Given the description of an element on the screen output the (x, y) to click on. 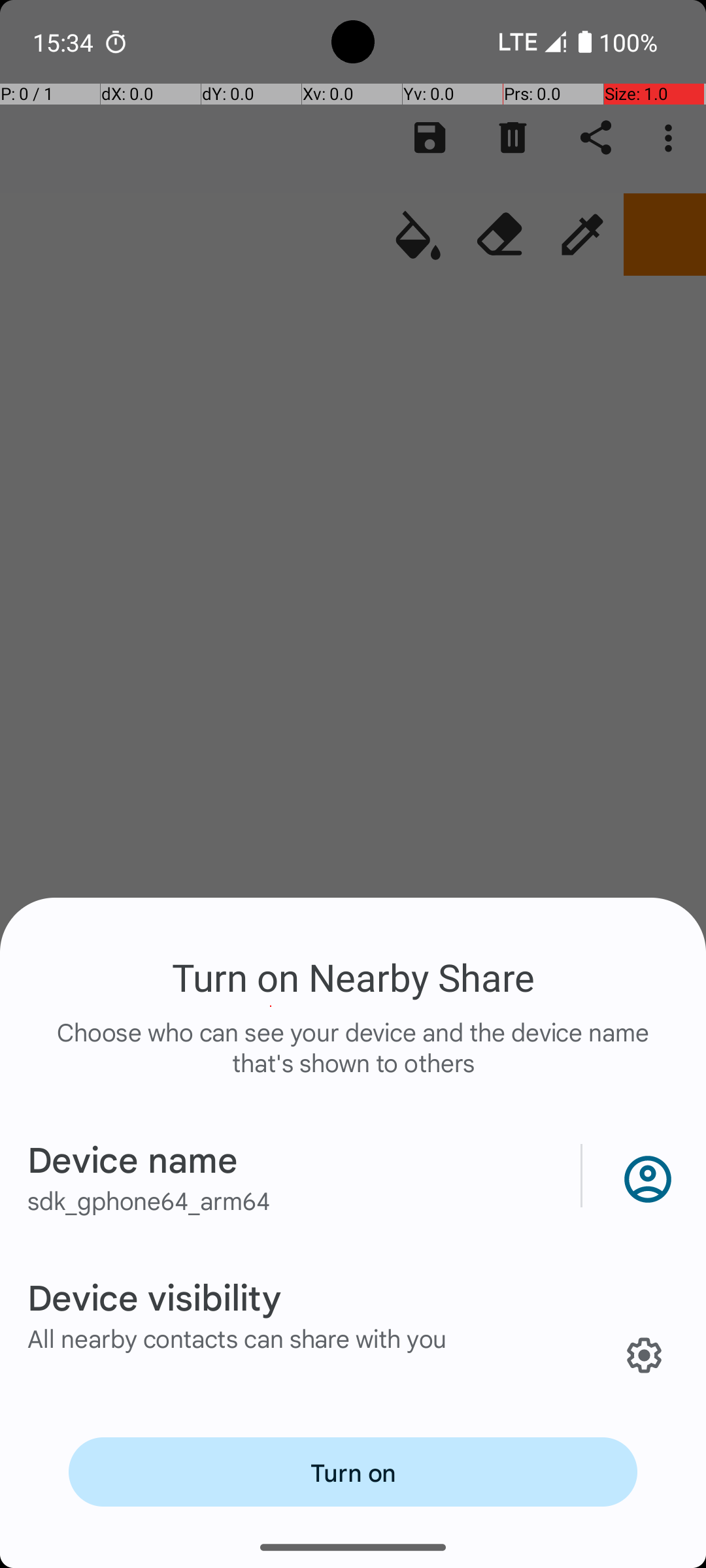
Turn on Nearby Share Element type: android.widget.TextView (353, 976)
Choose who can see your device and the device name that's shown to others Element type: android.widget.TextView (353, 1060)
No account found Element type: android.widget.FrameLayout (644, 1175)
Turn on Element type: android.widget.Button (352, 1471)
Device visibility Element type: android.widget.TextView (154, 1296)
All nearby contacts can share with you Element type: android.widget.TextView (237, 1338)
